Given the description of an element on the screen output the (x, y) to click on. 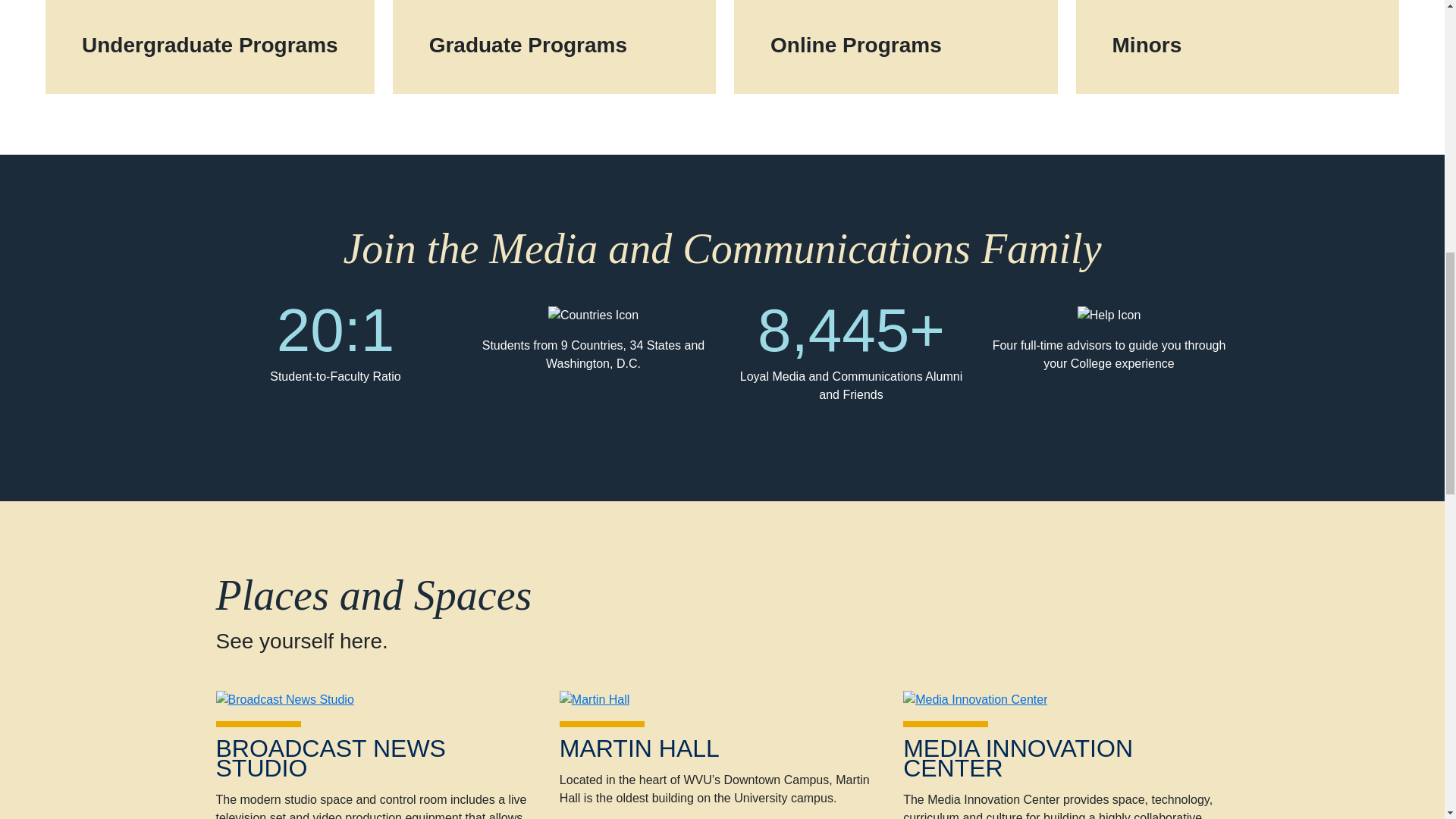
Image not found (1109, 321)
Image not found (593, 321)
